Given the description of an element on the screen output the (x, y) to click on. 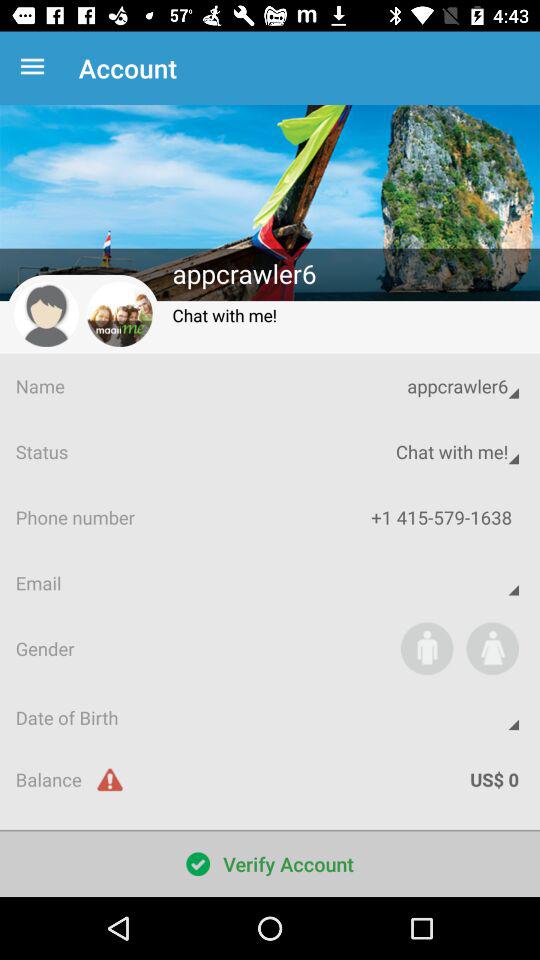
gender female (492, 648)
